Given the description of an element on the screen output the (x, y) to click on. 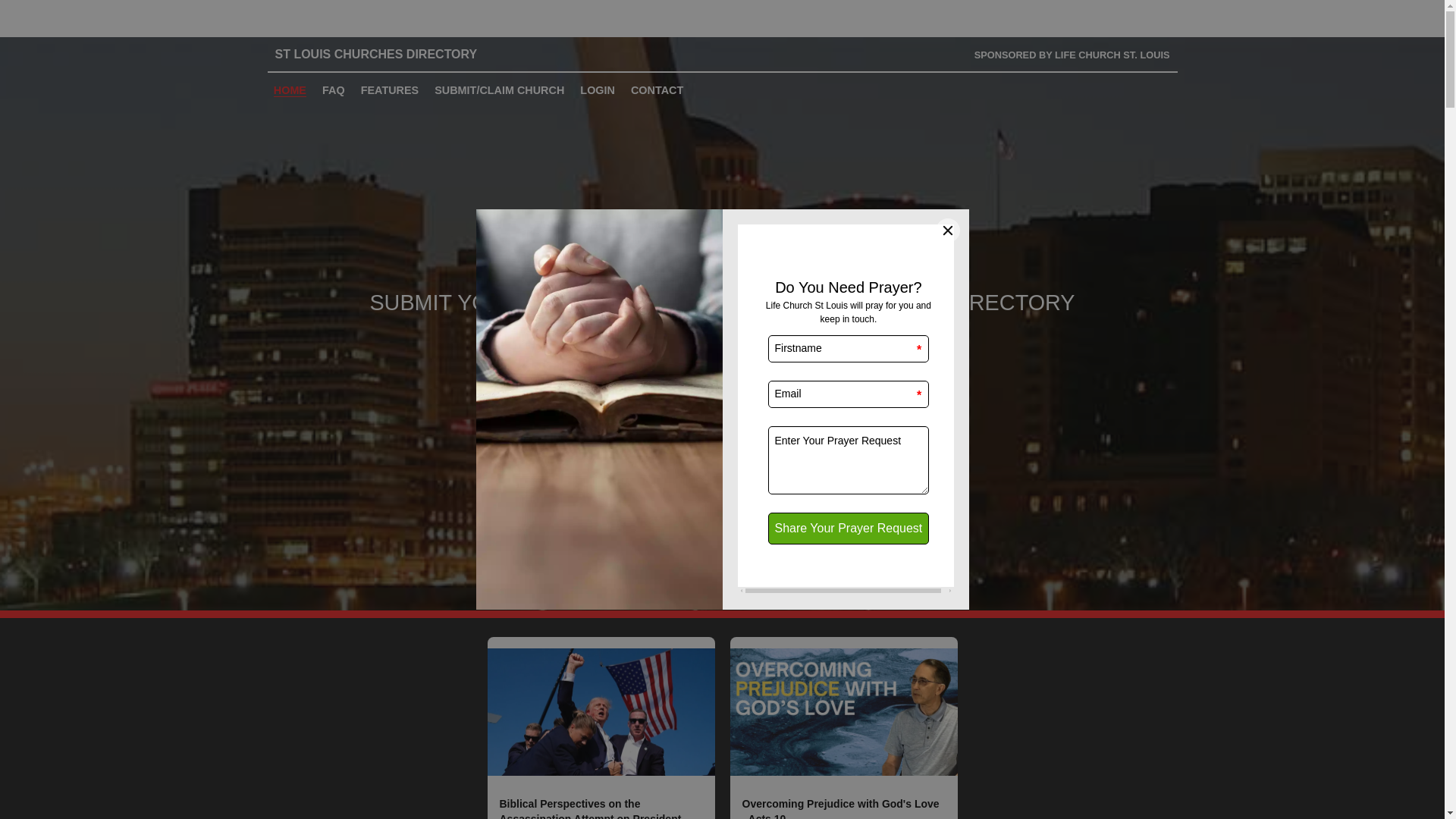
SPONSORED BY LIFE CHURCH ST. LOUIS (1072, 54)
FEATURES (390, 90)
LOGIN (598, 90)
HOME (289, 90)
SUBMIT YOUR CHURCH (721, 348)
Sponsored by Life Church St. Louis (1072, 54)
CONTACT (656, 90)
FAQ (333, 90)
ST LOUIS CHURCHES DIRECTORY (403, 54)
St Louis Churches Directory (403, 54)
